Given the description of an element on the screen output the (x, y) to click on. 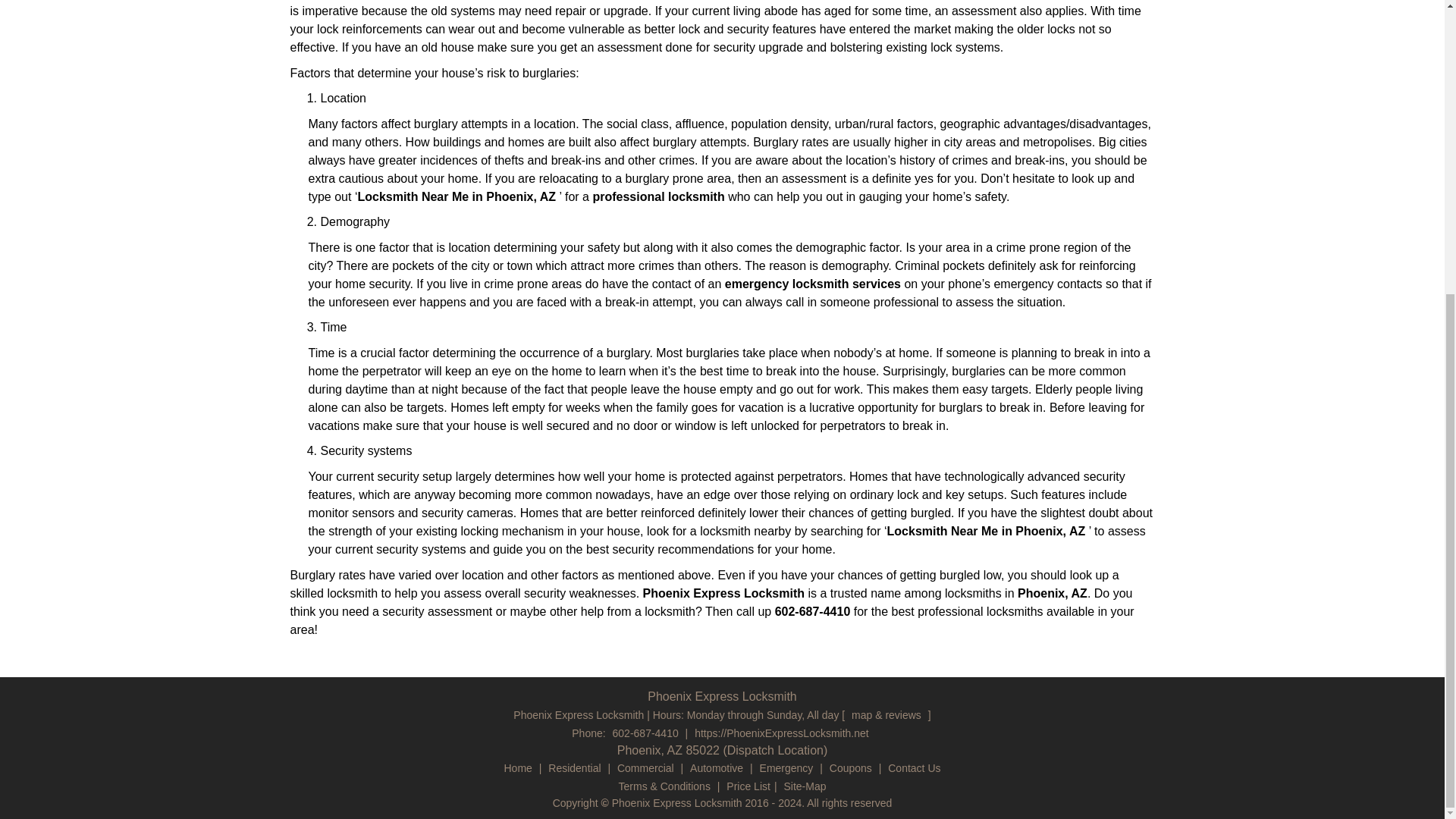
Contact Us (913, 767)
Emergency (785, 767)
Coupons (850, 767)
Commercial (645, 767)
Home (517, 767)
Automotive (715, 767)
Residential (574, 767)
602-687-4410 (645, 733)
